Given the description of an element on the screen output the (x, y) to click on. 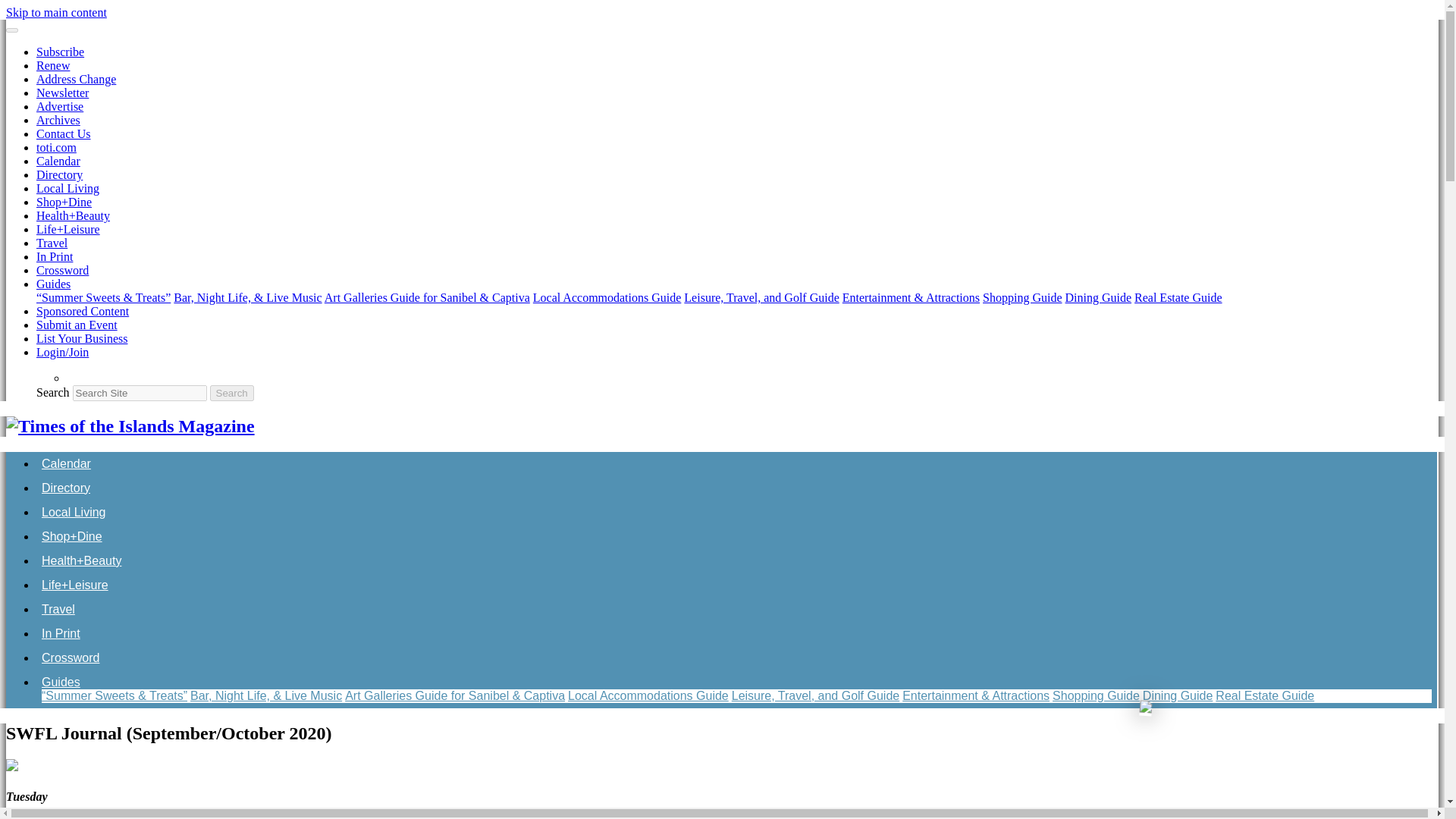
In Print (54, 256)
Submit an Event (76, 324)
Crossword (62, 269)
Travel (51, 242)
Address Change (76, 78)
Directory (59, 174)
Dining Guide (1097, 297)
Skip to main content (55, 11)
Directory (66, 487)
Real Estate Guide (1178, 297)
Calendar (58, 160)
Renew (52, 65)
Shopping Guide (1021, 297)
Archives (58, 119)
Advertise (59, 106)
